Given the description of an element on the screen output the (x, y) to click on. 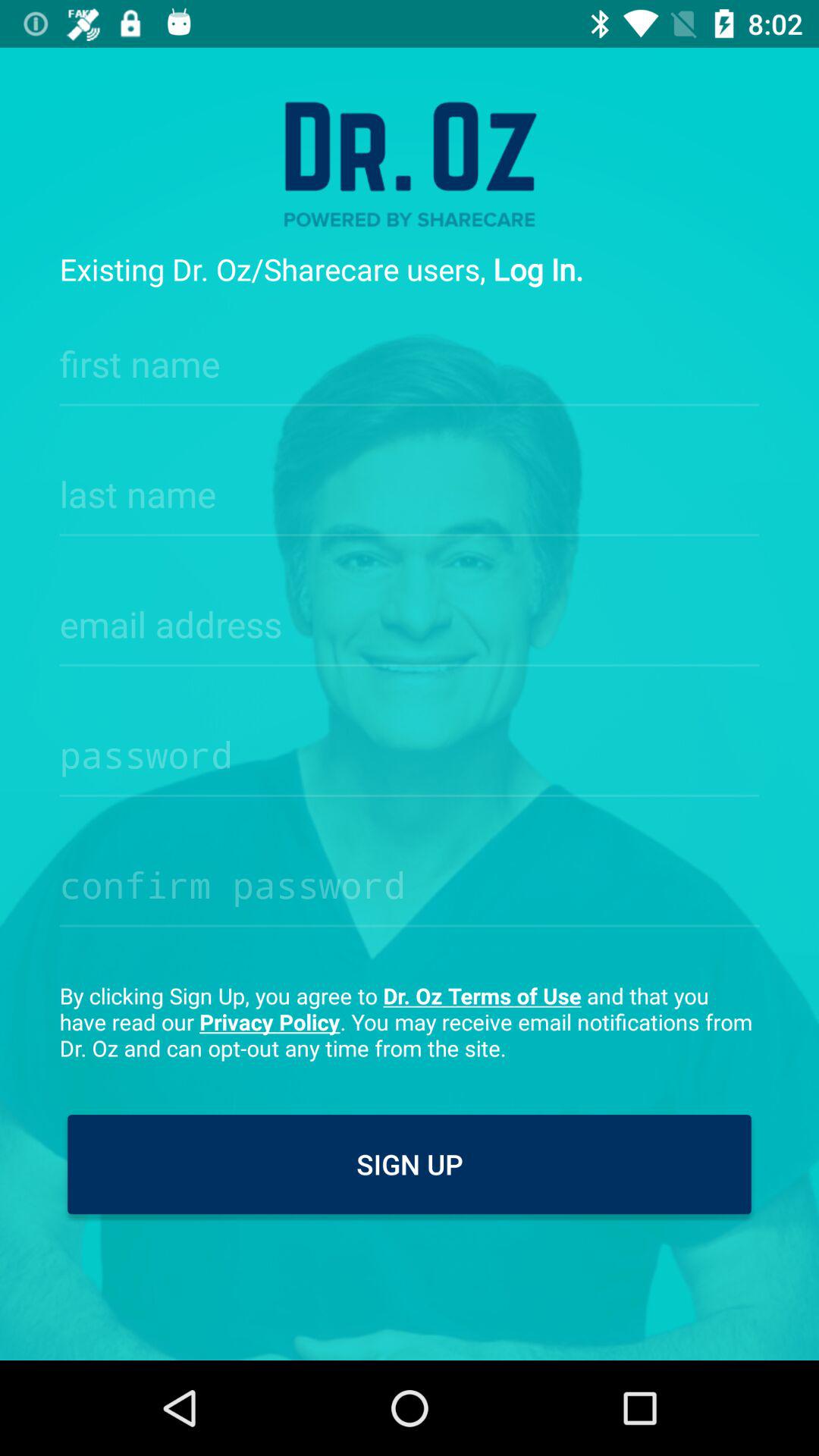
where users enter email address (409, 620)
